Given the description of an element on the screen output the (x, y) to click on. 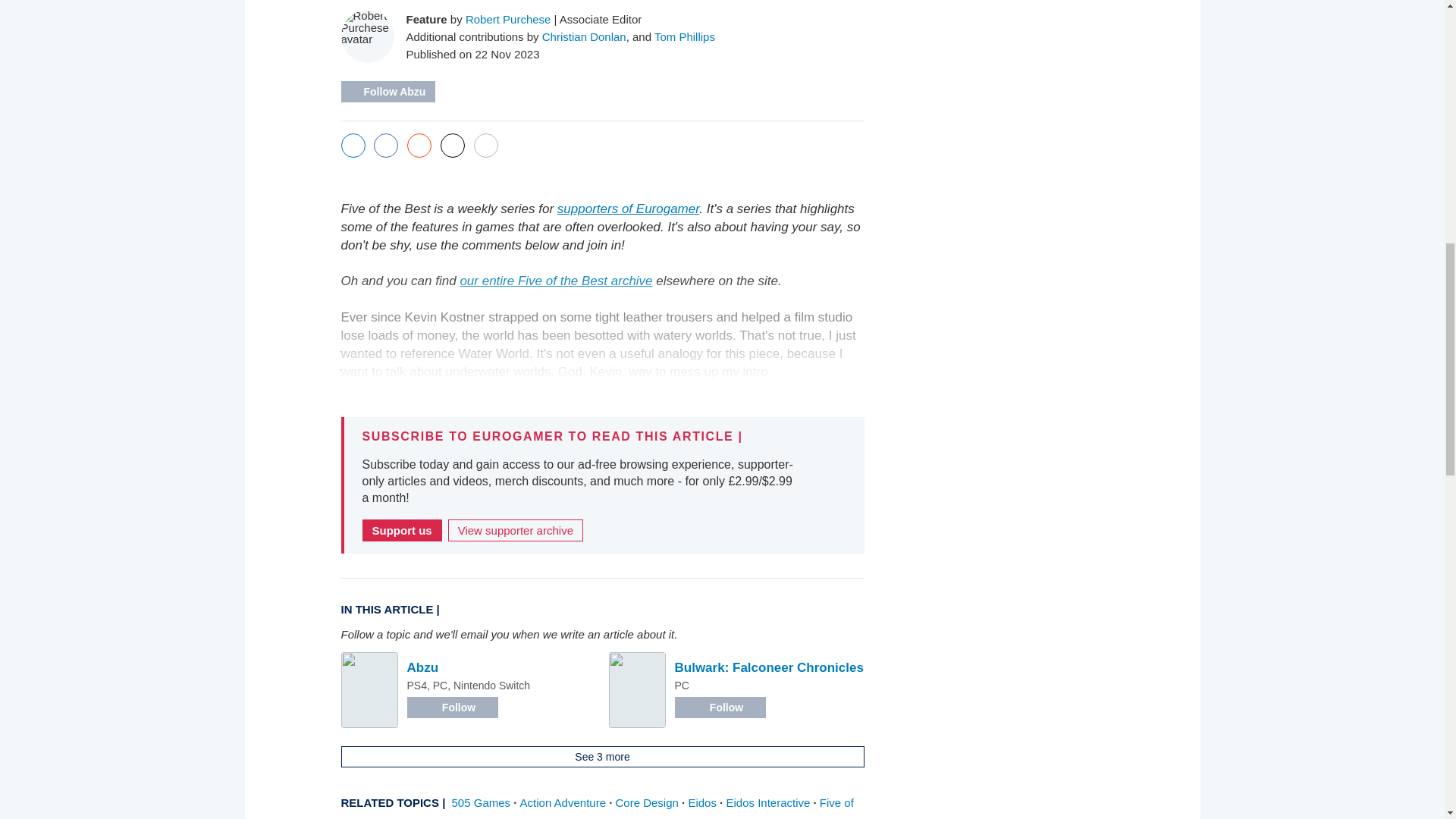
supporters of Eurogamer (627, 208)
Follow (451, 707)
Follow Abzu (387, 91)
Abzu (422, 667)
Tom Phillips (683, 36)
Bulwark: Falconeer Chronicles (769, 667)
Robert Purchese (508, 18)
Christian Donlan (583, 36)
View supporter archive (515, 530)
our entire Five of the Best archive (556, 280)
Support us (402, 530)
